Given the description of an element on the screen output the (x, y) to click on. 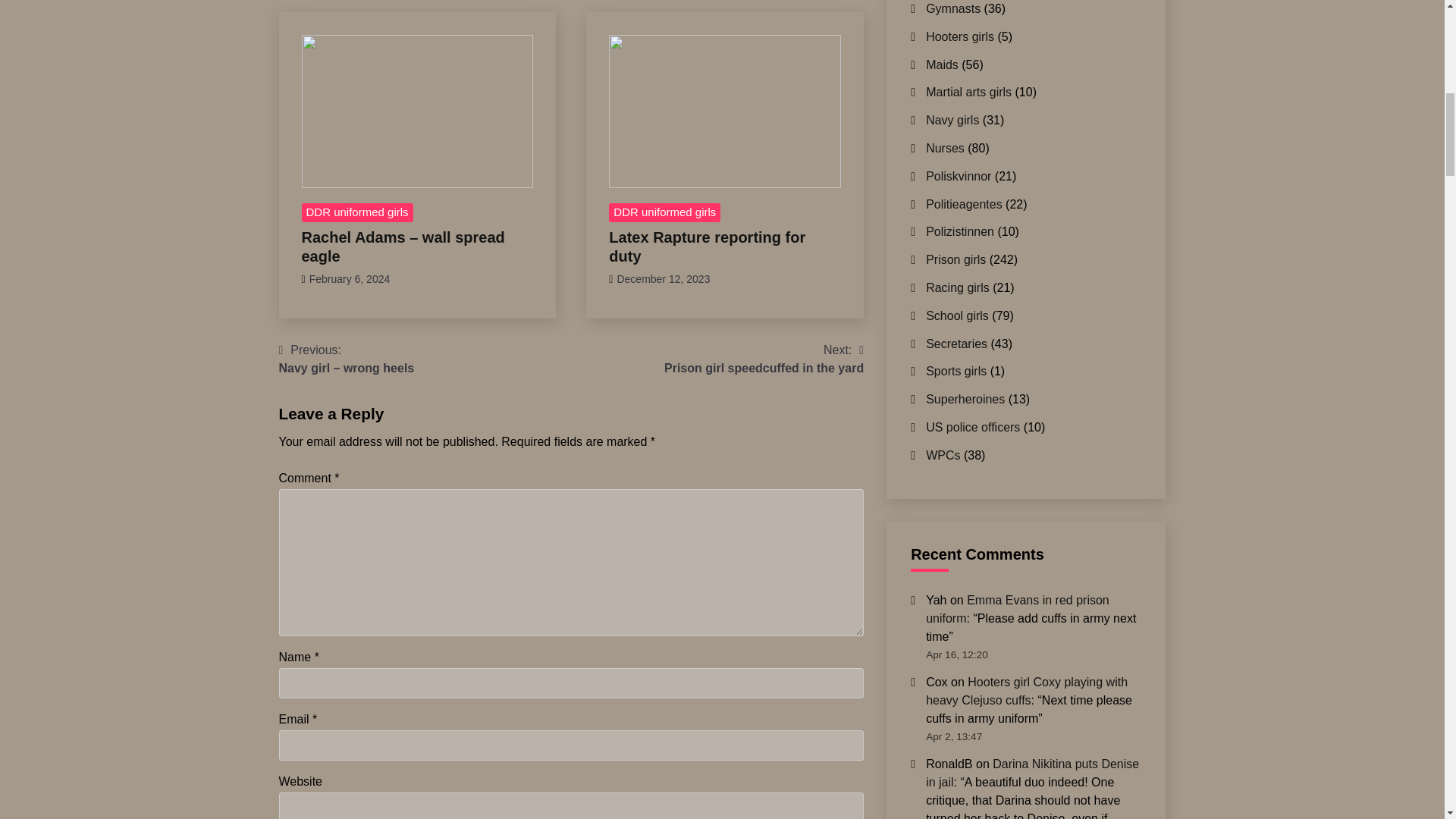
DDR uniformed girls (357, 212)
Latex Rapture reporting for duty (706, 246)
December 12, 2023 (662, 278)
February 6, 2024 (349, 278)
DDR uniformed girls (664, 212)
